Given the description of an element on the screen output the (x, y) to click on. 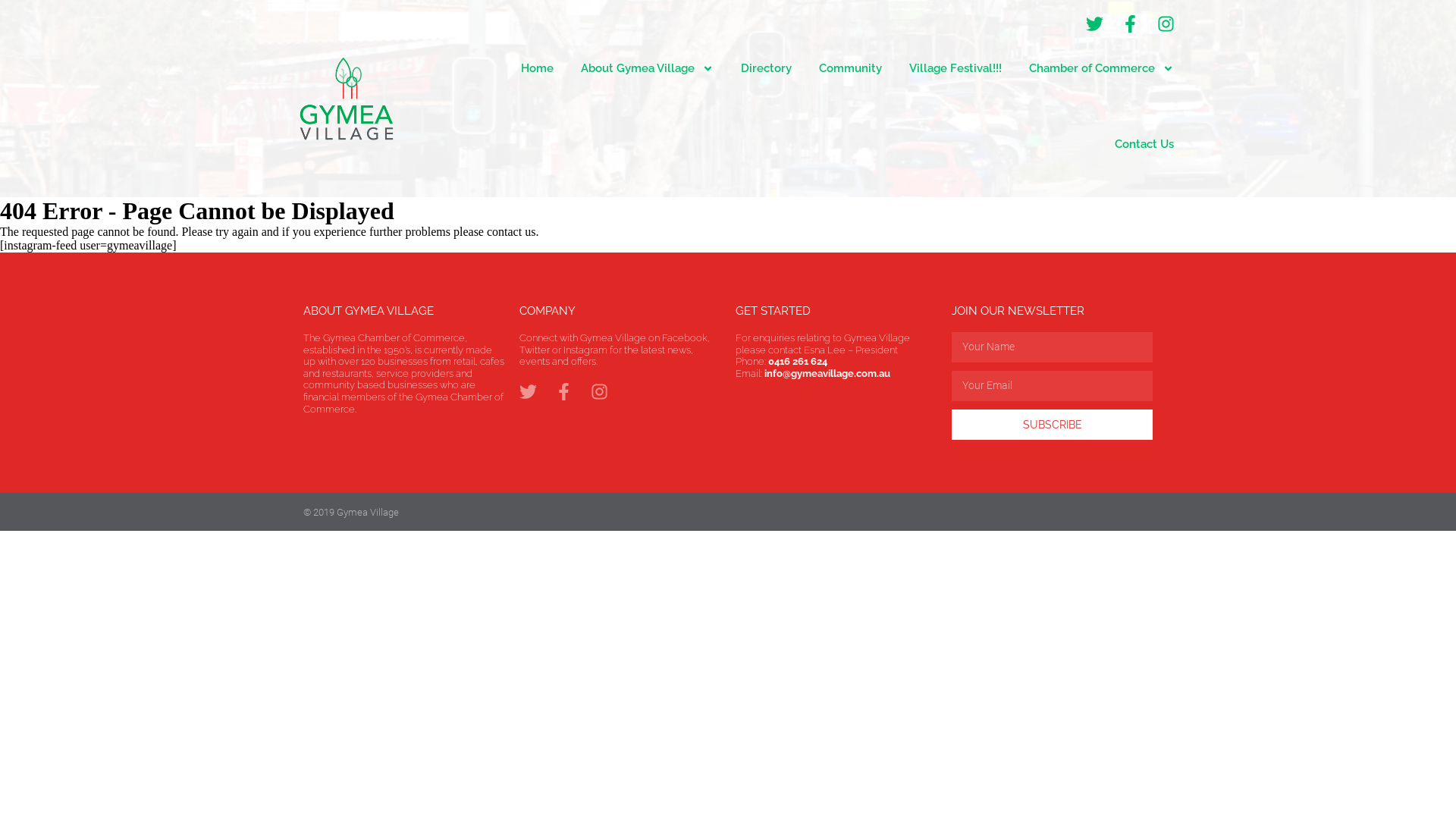
About Gymea Village Element type: text (647, 68)
Contact Us Element type: text (1144, 144)
Community Element type: text (850, 68)
Directory Element type: text (766, 68)
Chamber of Commerce Element type: text (1101, 68)
Home Element type: text (537, 68)
SUBSCRIBE Element type: text (1051, 424)
Village Festival!!! Element type: text (955, 68)
info@gymeavillage.com.au Element type: text (827, 373)
